Given the description of an element on the screen output the (x, y) to click on. 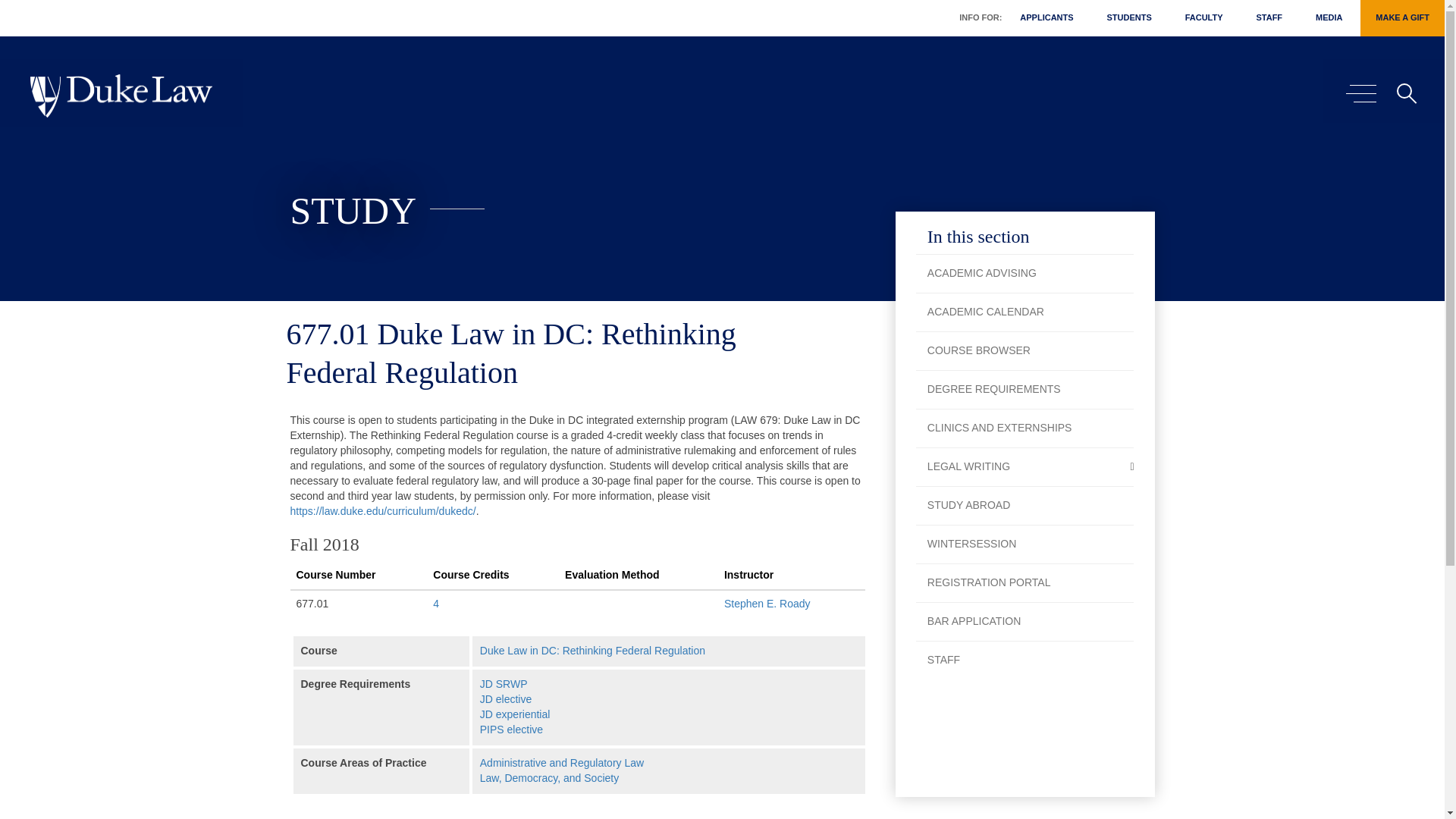
STAFF (1268, 18)
APPLICANTS (1045, 18)
Home (121, 95)
Main menu toggle (1360, 93)
MEDIA (1328, 18)
STUDENTS (1128, 18)
FACULTY (1204, 18)
Course Browser (1024, 350)
